Given the description of an element on the screen output the (x, y) to click on. 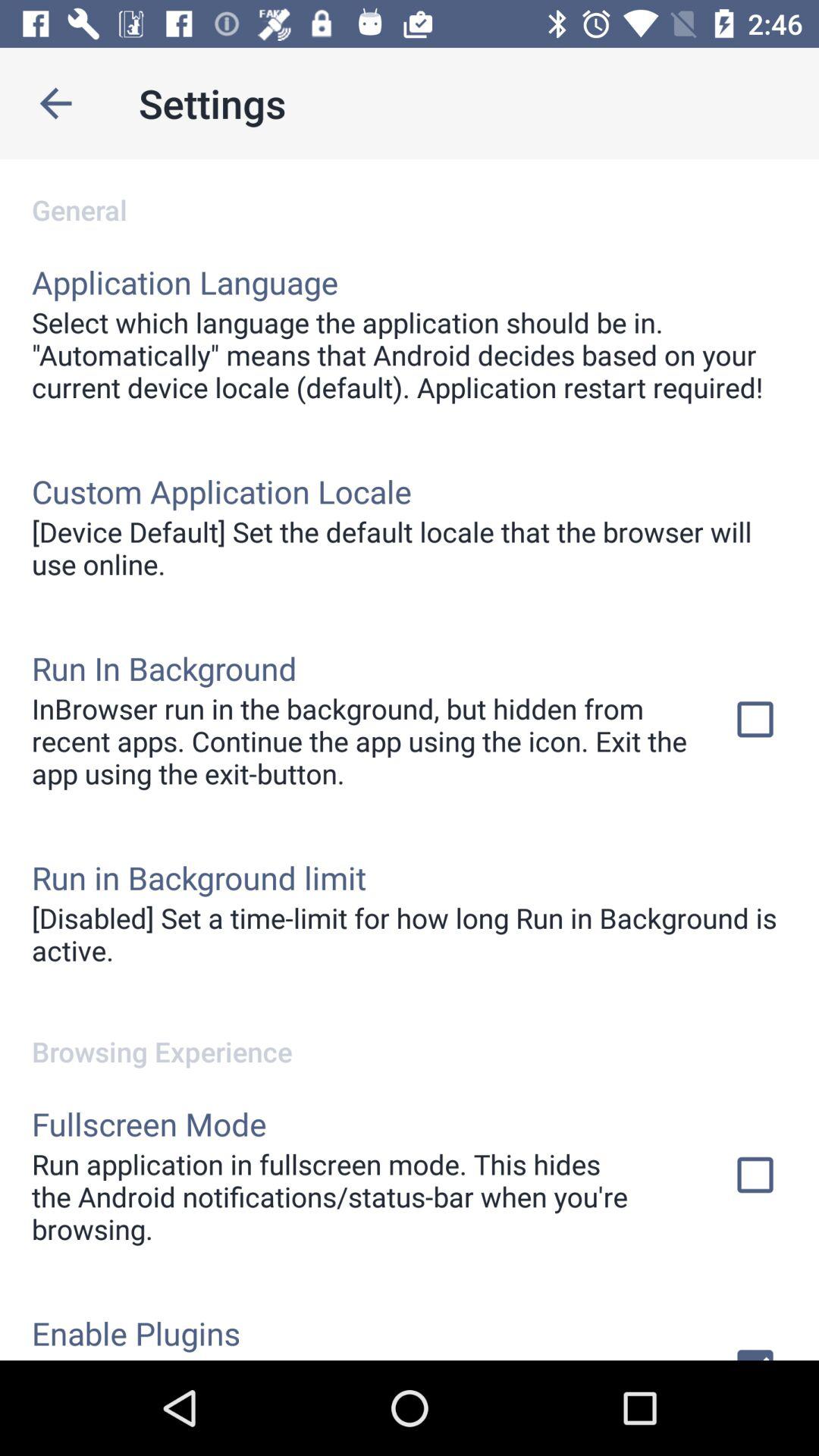
open the browsing experience item (409, 1035)
